Given the description of an element on the screen output the (x, y) to click on. 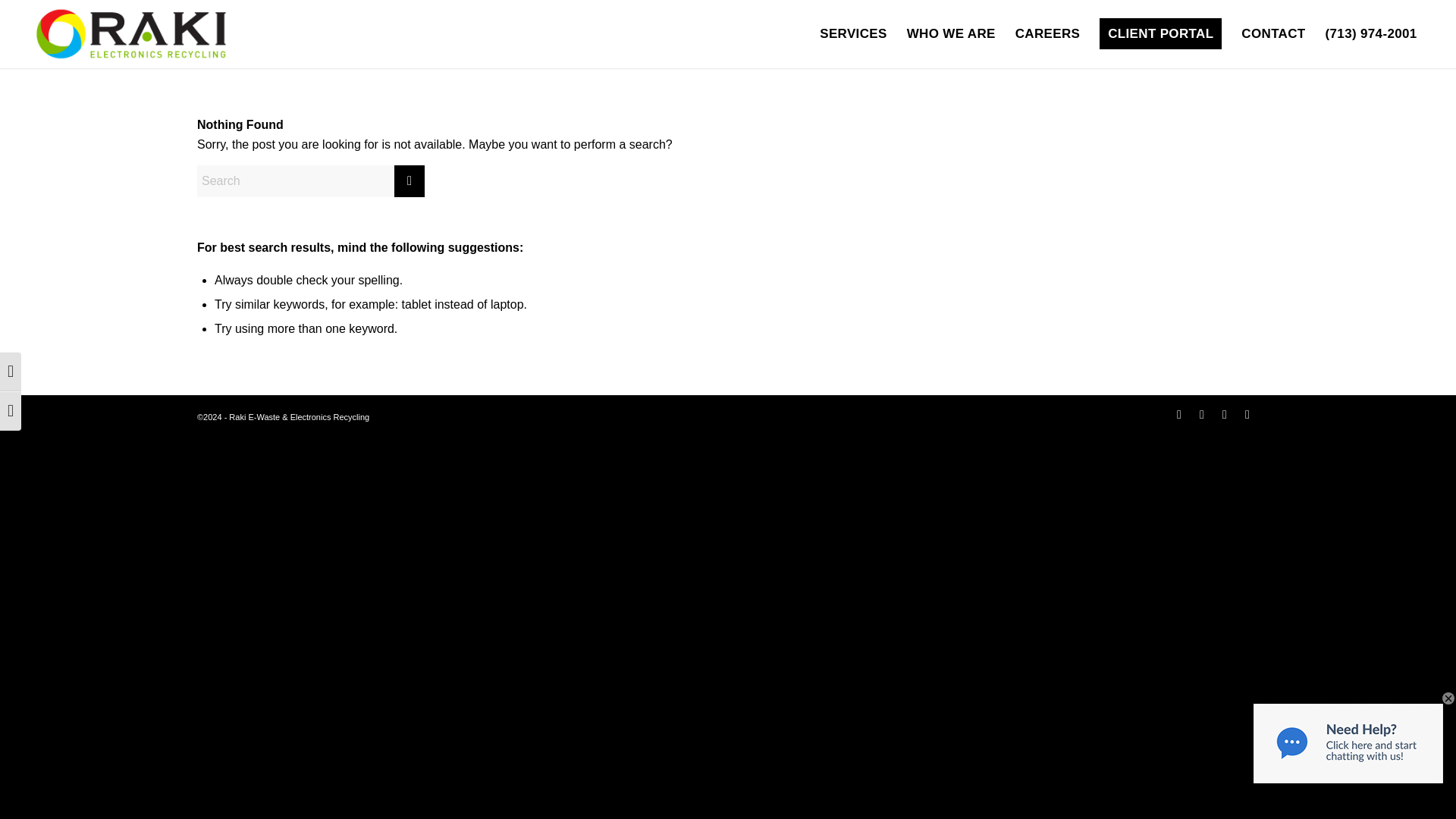
WHO WE ARE (951, 33)
CLIENT PORTAL (1160, 33)
SERVICES (852, 33)
CAREERS (1048, 33)
CONTACT (1272, 33)
